Given the description of an element on the screen output the (x, y) to click on. 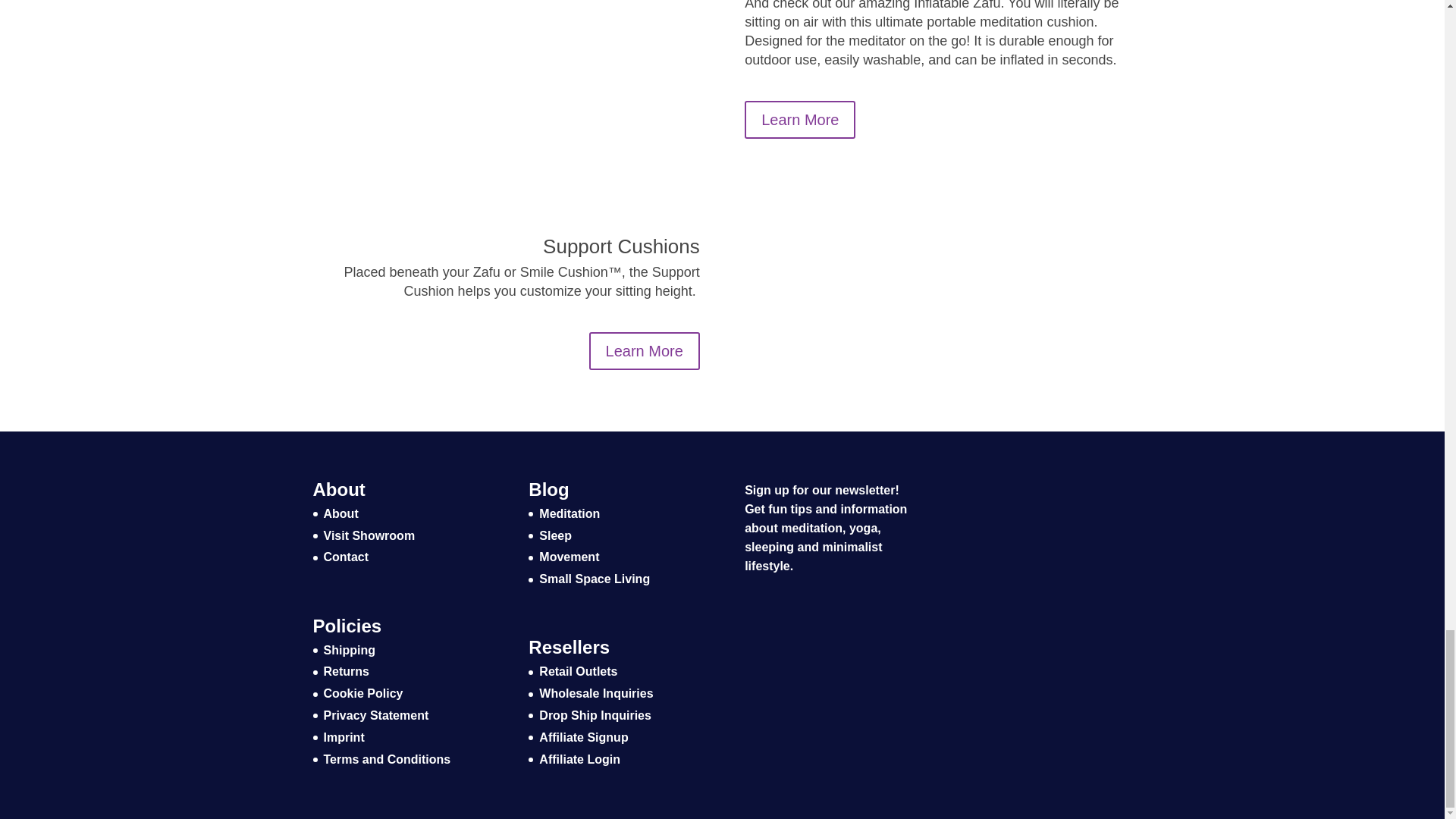
Contact (345, 556)
Privacy Statement (375, 715)
Shipping (348, 649)
Imprint (343, 737)
Returns (345, 671)
Learn More (800, 119)
Visit Showroom (368, 535)
Terms and Conditions (386, 758)
Learn More (644, 351)
About (340, 513)
Meditation (568, 513)
Cookie Policy (363, 693)
Sleep (555, 535)
